Given the description of an element on the screen output the (x, y) to click on. 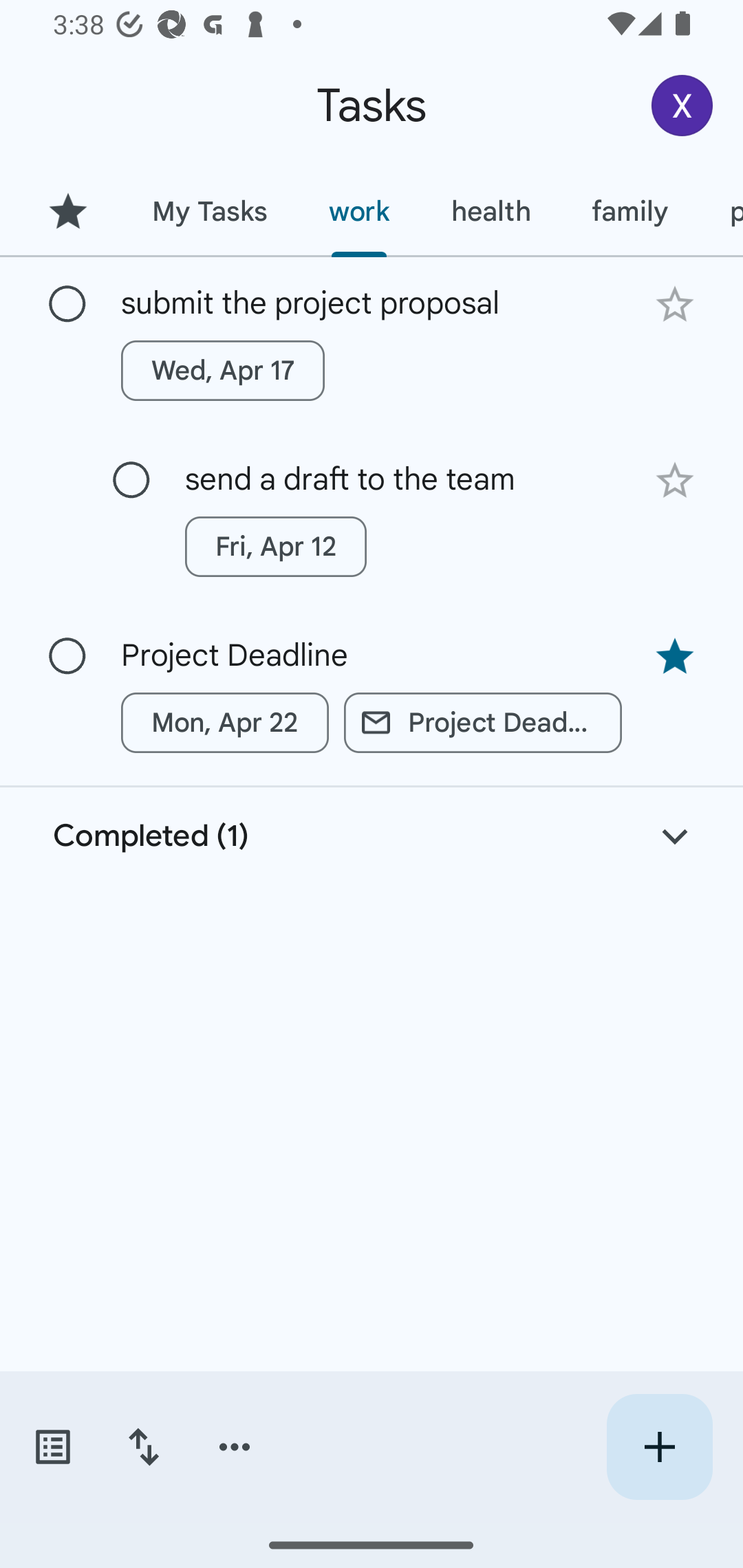
Starred (67, 211)
My Tasks (209, 211)
health (490, 211)
family (629, 211)
Add star (674, 303)
Mark as complete (67, 304)
Wed, Apr 17 (222, 369)
Add star (674, 480)
Mark as complete (131, 480)
Fri, Apr 12 (276, 546)
Remove star (674, 656)
Mark as complete (67, 655)
Mon, Apr 22 (225, 722)
Project Deadline Related link (482, 722)
Completed (1) (371, 836)
Switch task lists (52, 1447)
Create new task (659, 1446)
Change sort order (143, 1446)
More options (234, 1446)
